Given the description of an element on the screen output the (x, y) to click on. 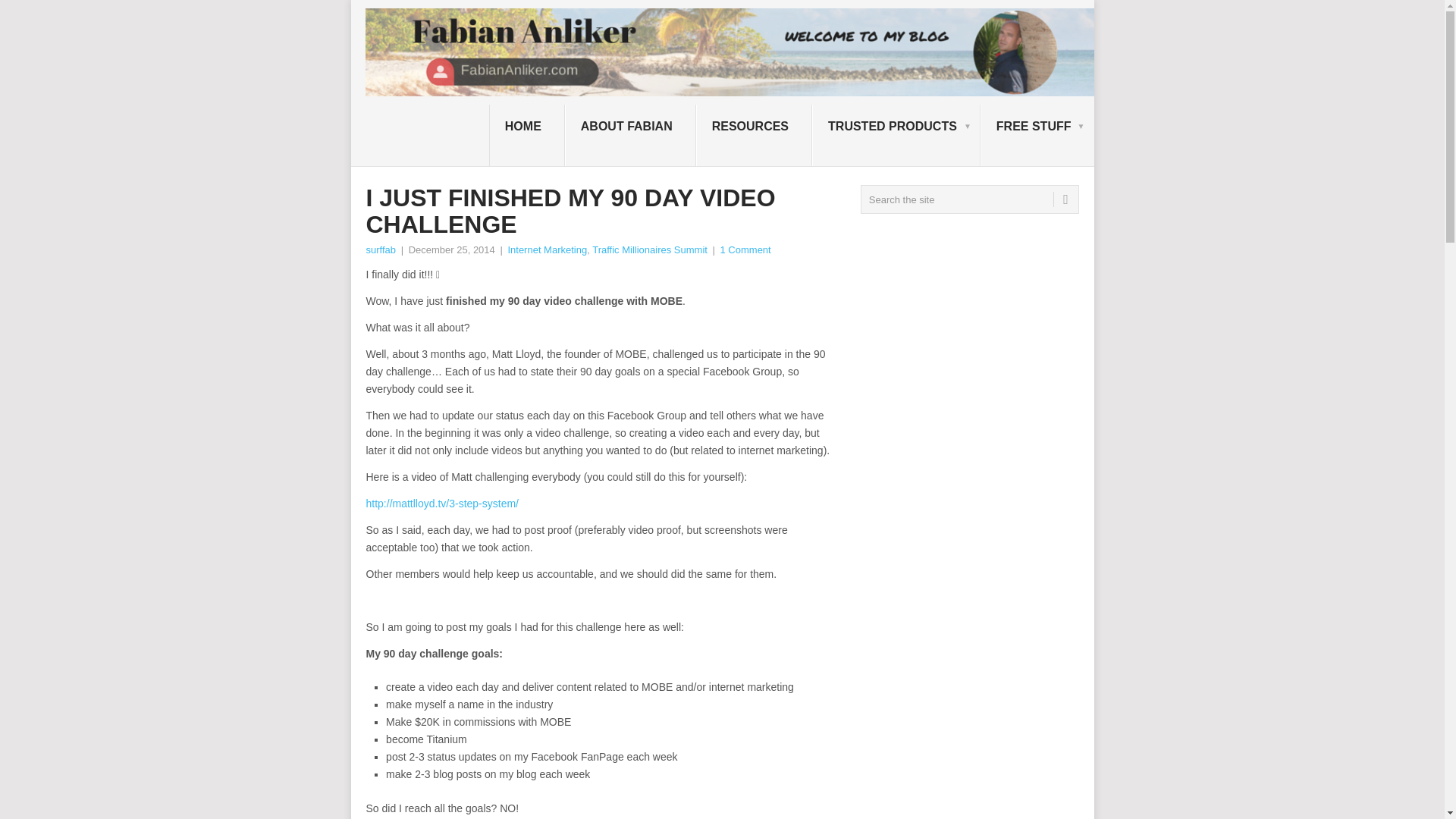
1 Comment (745, 249)
surffab (380, 249)
RESOURCES (753, 135)
HOME (526, 135)
FREE STUFF (1036, 135)
Search the site (969, 199)
ABOUT FABIAN (629, 135)
Internet Marketing (546, 249)
TRUSTED PRODUCTS (895, 135)
Posts by surffab (380, 249)
